Given the description of an element on the screen output the (x, y) to click on. 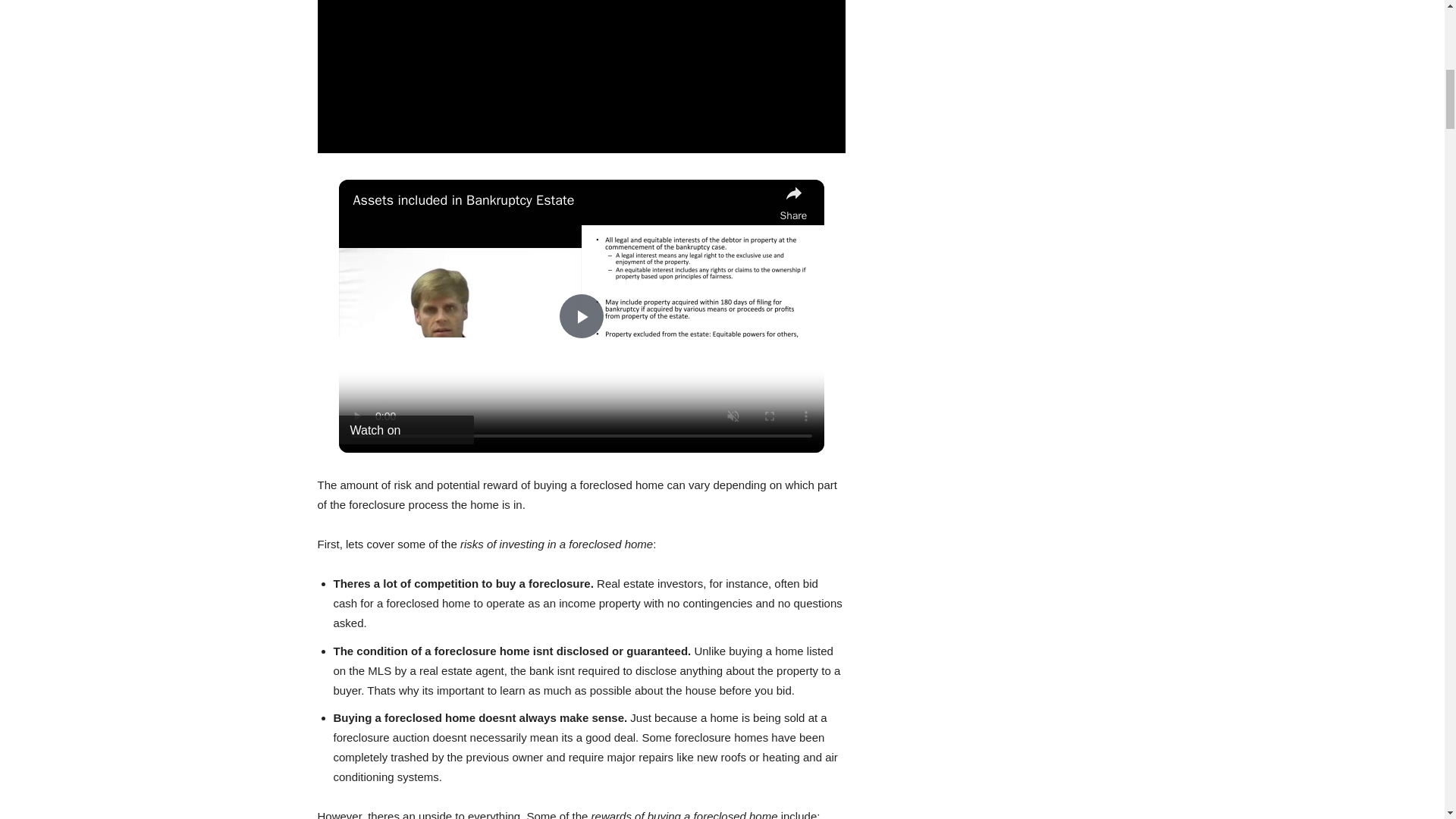
Play Video (580, 316)
